Given the description of an element on the screen output the (x, y) to click on. 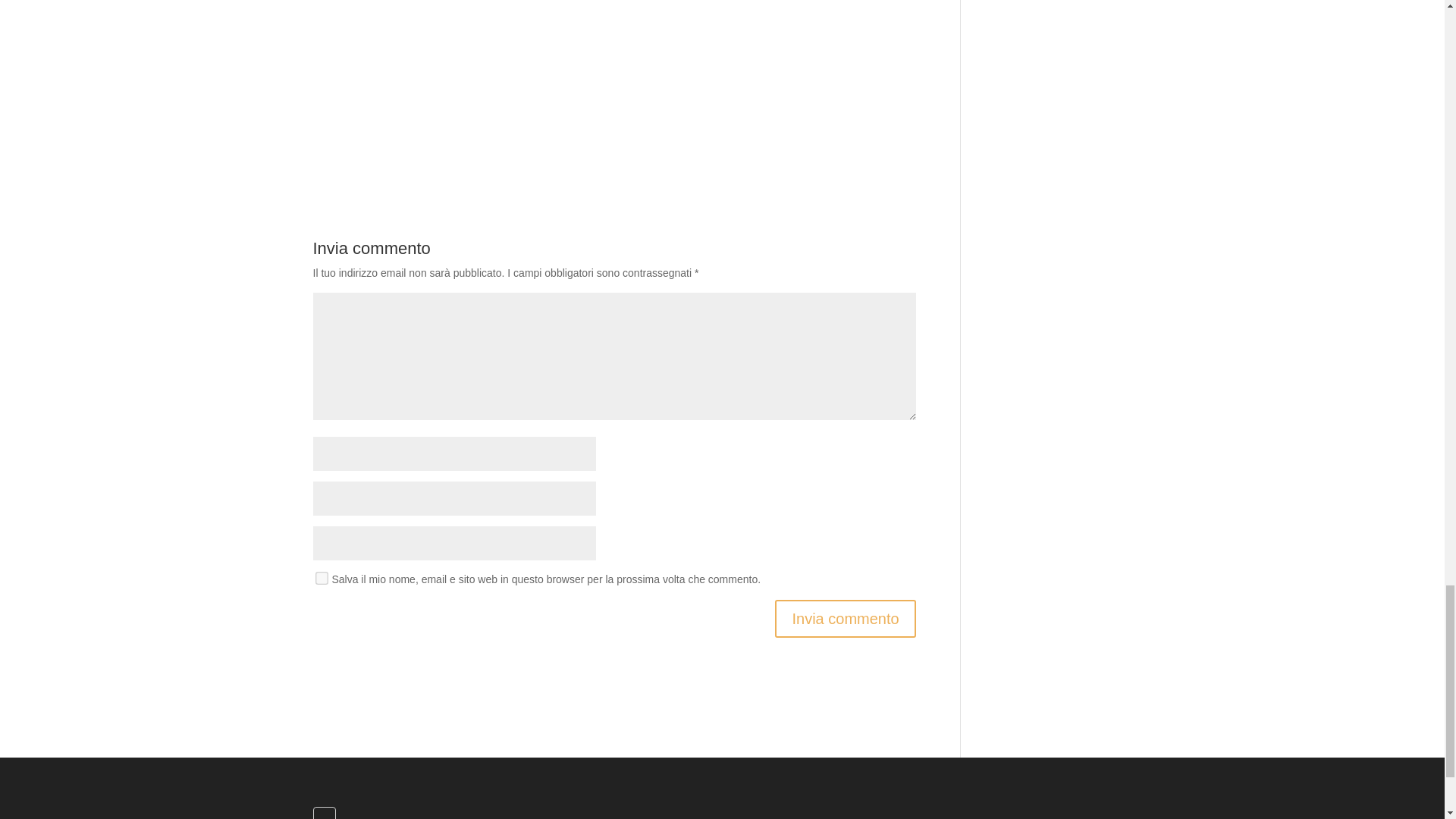
Invia commento (844, 618)
yes (319, 576)
Invia commento (844, 618)
